Given the description of an element on the screen output the (x, y) to click on. 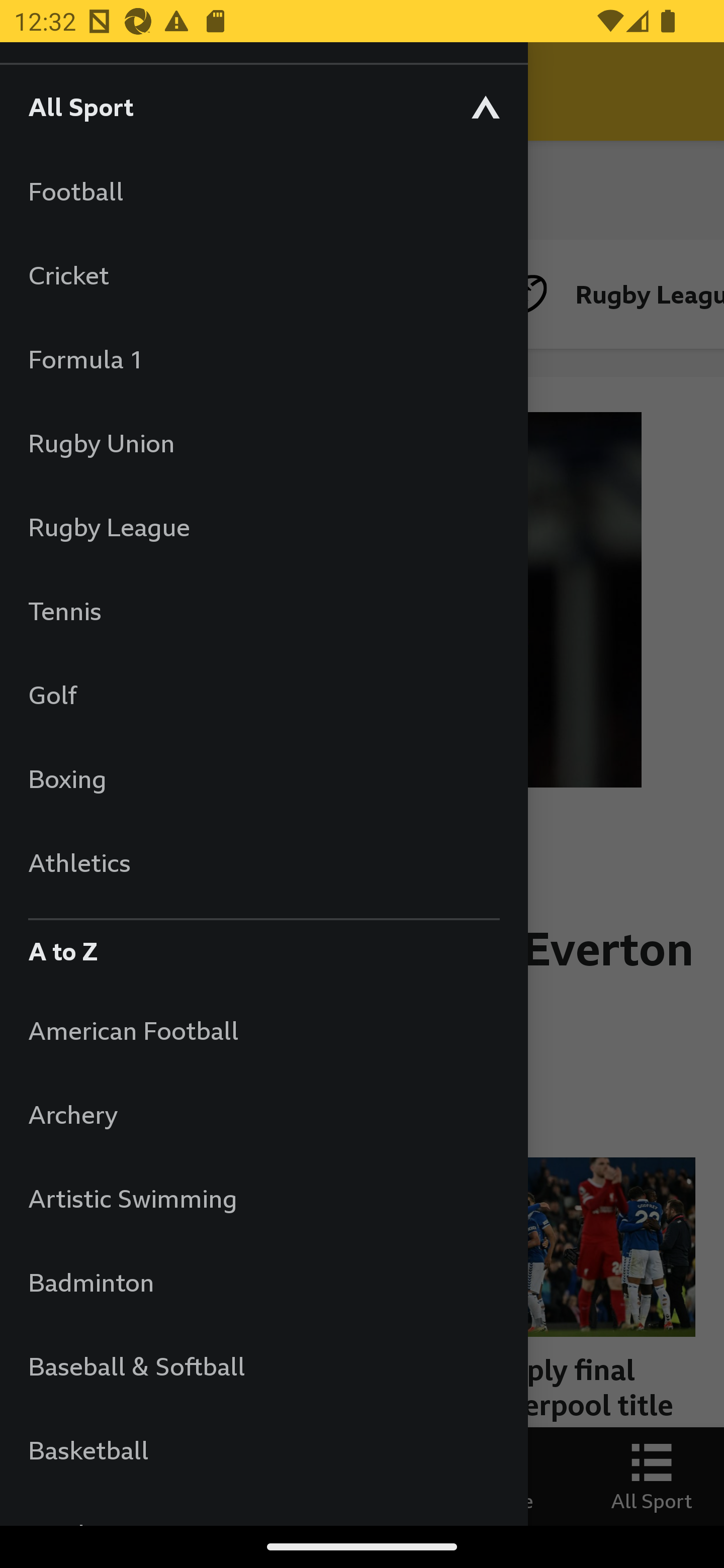
All Sport (263, 105)
Football (263, 190)
Cricket (263, 274)
Formula 1 (263, 358)
Rugby Union (263, 441)
Rugby League (263, 526)
Tennis (263, 609)
Golf (263, 694)
Boxing (263, 778)
Athletics (263, 862)
A to Z (263, 945)
American Football (263, 1029)
Archery (263, 1114)
Artistic Swimming (263, 1197)
Badminton (263, 1282)
Baseball & Softball (263, 1365)
Basketball (263, 1450)
